Given the description of an element on the screen output the (x, y) to click on. 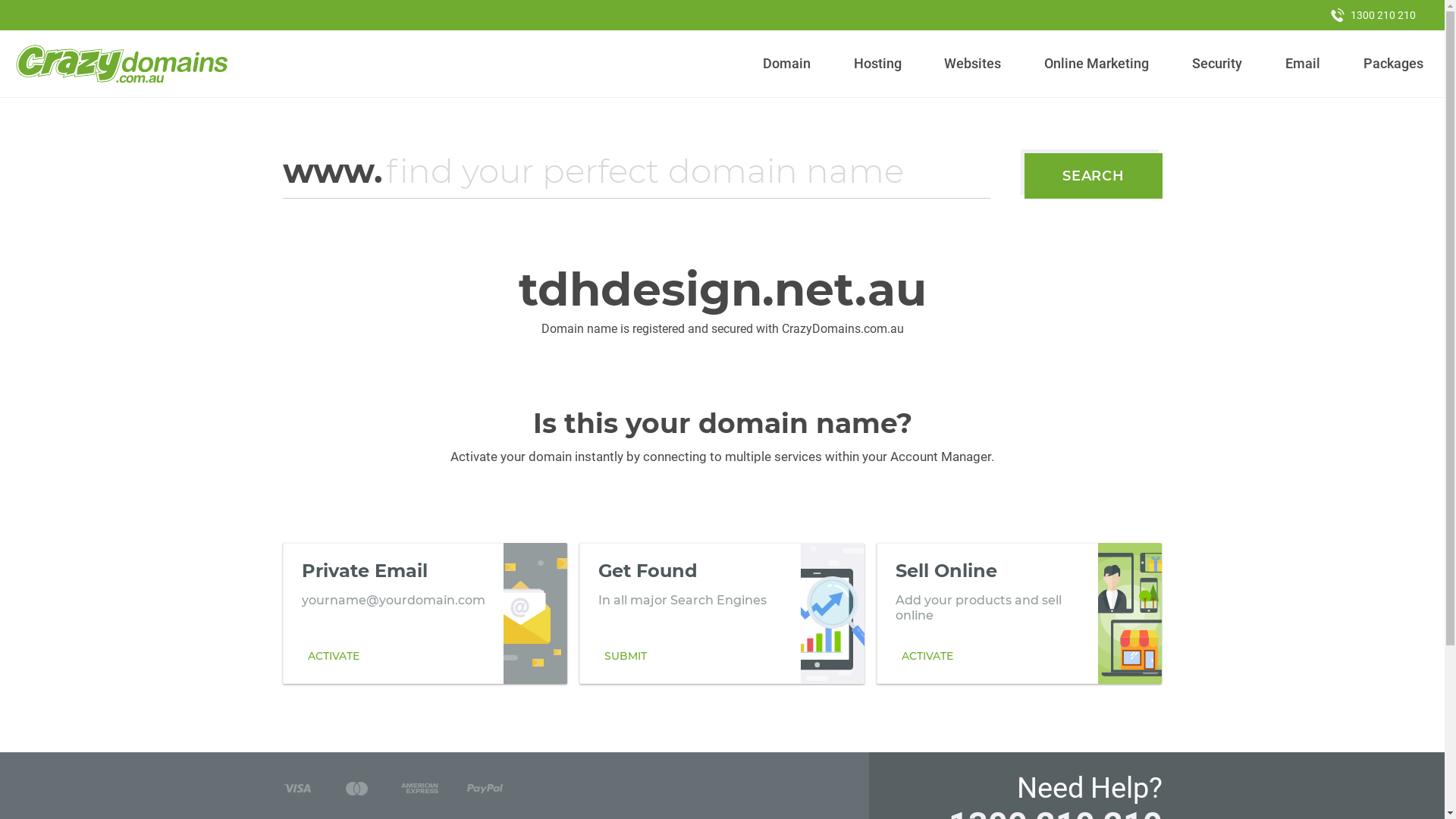
SEARCH Element type: text (1092, 175)
Hosting Element type: text (877, 63)
Sell Online
Add your products and sell online
ACTIVATE Element type: text (1018, 613)
Email Element type: text (1302, 63)
Get Found
In all major Search Engines
SUBMIT Element type: text (721, 613)
1300 210 210 Element type: text (1373, 15)
Private Email
yourname@yourdomain.com
ACTIVATE Element type: text (424, 613)
Domain Element type: text (786, 63)
Online Marketing Element type: text (1096, 63)
Websites Element type: text (972, 63)
Security Element type: text (1217, 63)
Packages Element type: text (1392, 63)
